Given the description of an element on the screen output the (x, y) to click on. 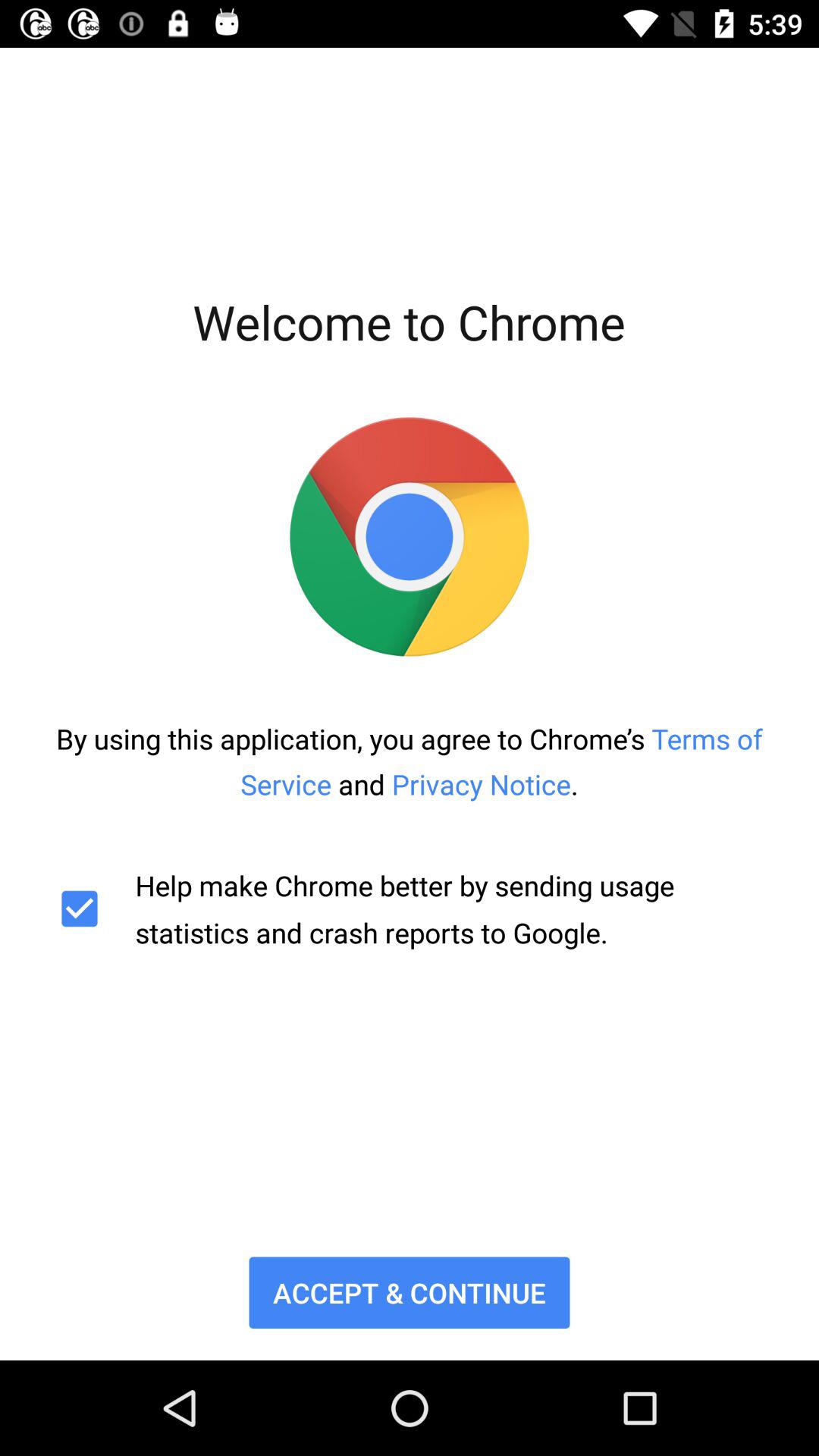
press the item below the help make chrome item (409, 1292)
